Given the description of an element on the screen output the (x, y) to click on. 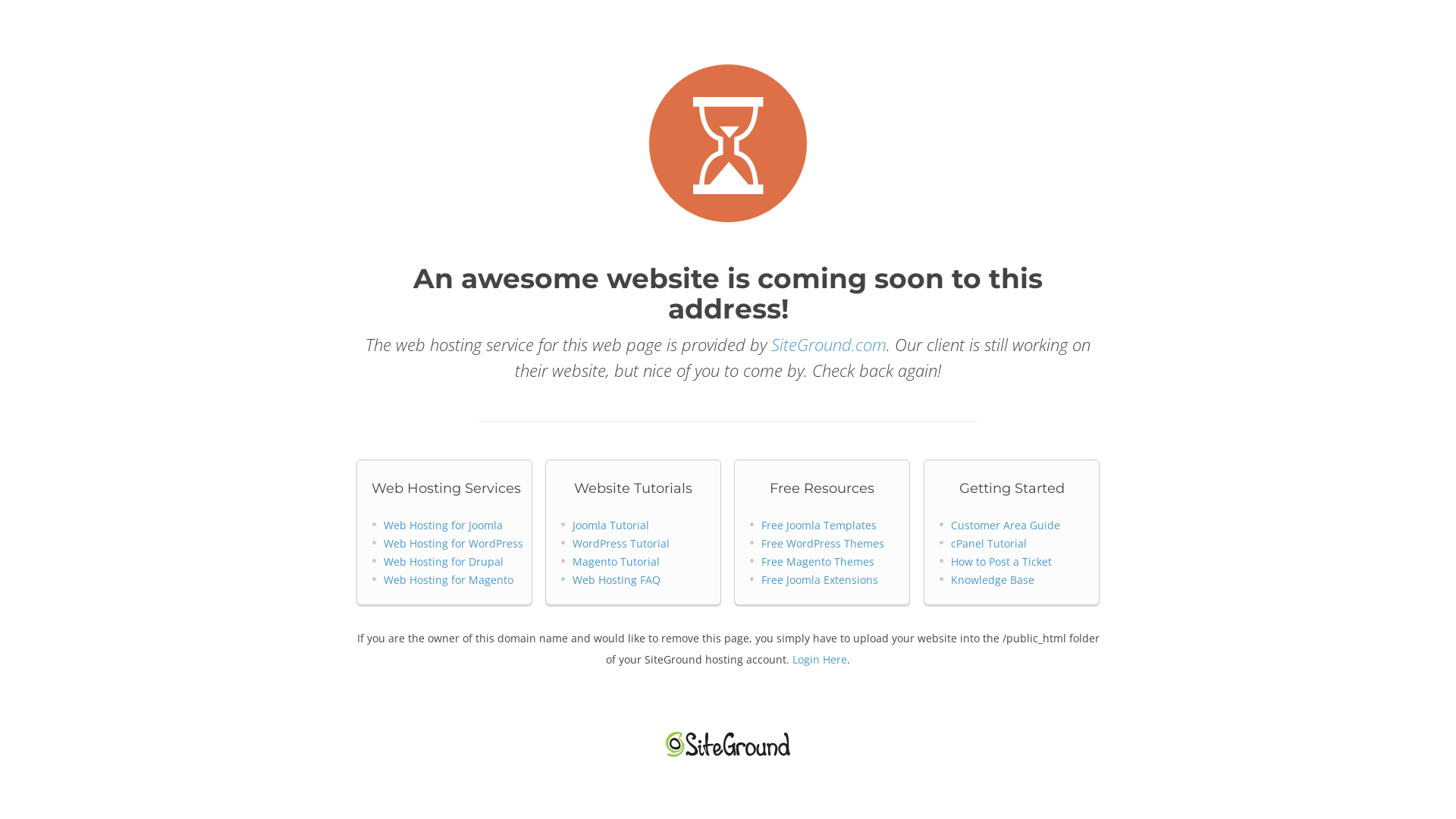
Free Magento Themes Element type: text (817, 561)
Web Hosting for Joomla Element type: text (442, 524)
Web Hosting FAQ Element type: text (616, 579)
Magento Tutorial Element type: text (615, 561)
Web Hosting for WordPress Element type: text (453, 543)
How to Post a Ticket Element type: text (1000, 561)
Free Joomla Extensions Element type: text (819, 579)
WordPress Tutorial Element type: text (620, 543)
Web Hosting for Drupal Element type: text (443, 561)
Free WordPress Themes Element type: text (822, 543)
Free Joomla Templates Element type: text (818, 524)
Web Hosting for Magento Element type: text (448, 579)
SiteGround.com Element type: text (828, 343)
Login Here Element type: text (819, 659)
cPanel Tutorial Element type: text (988, 543)
Joomla Tutorial Element type: text (610, 524)
Customer Area Guide Element type: text (1005, 524)
Knowledge Base Element type: text (992, 579)
